Given the description of an element on the screen output the (x, y) to click on. 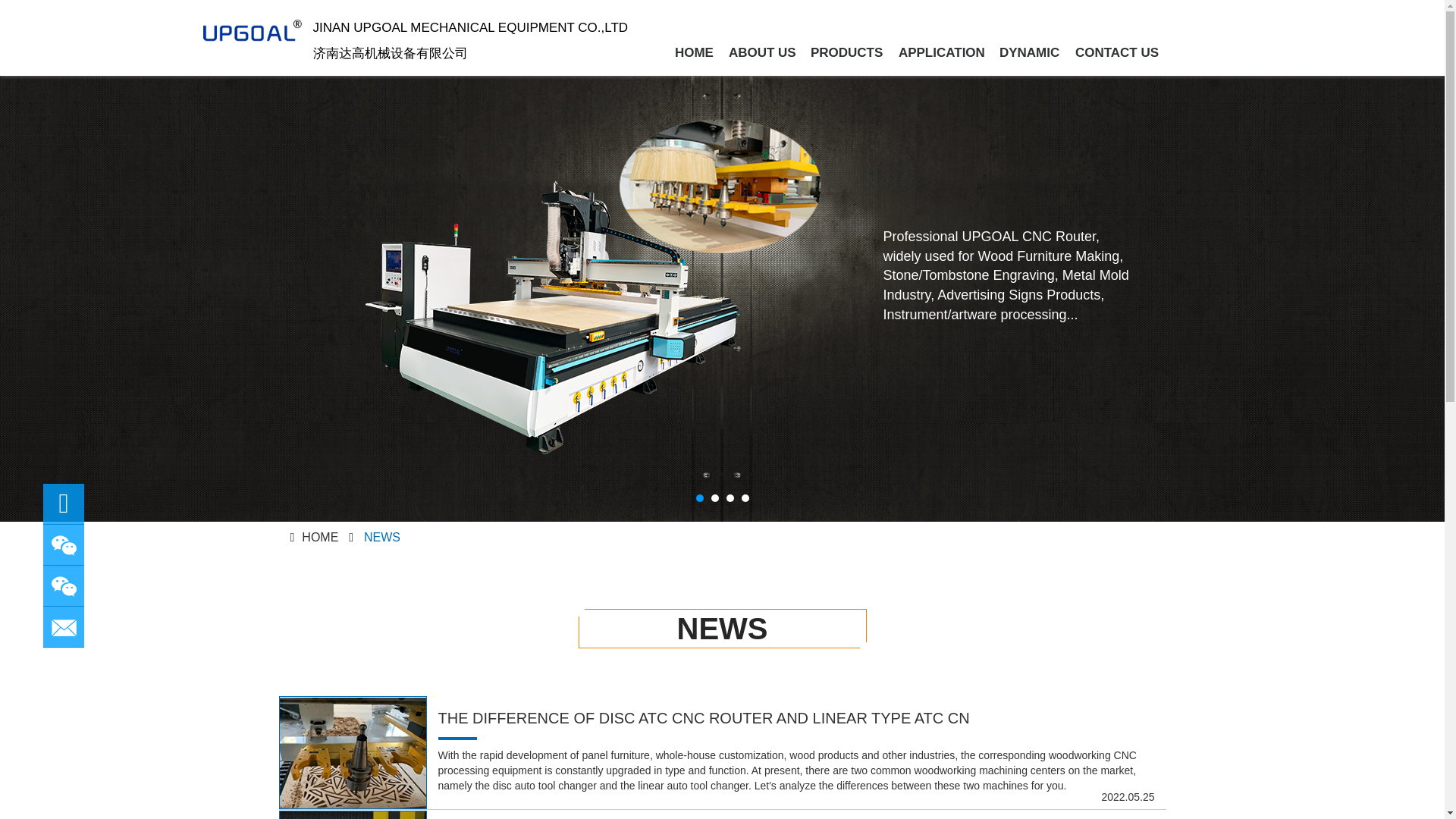
PRODUCTS (846, 45)
ABOUT US (761, 45)
